Given the description of an element on the screen output the (x, y) to click on. 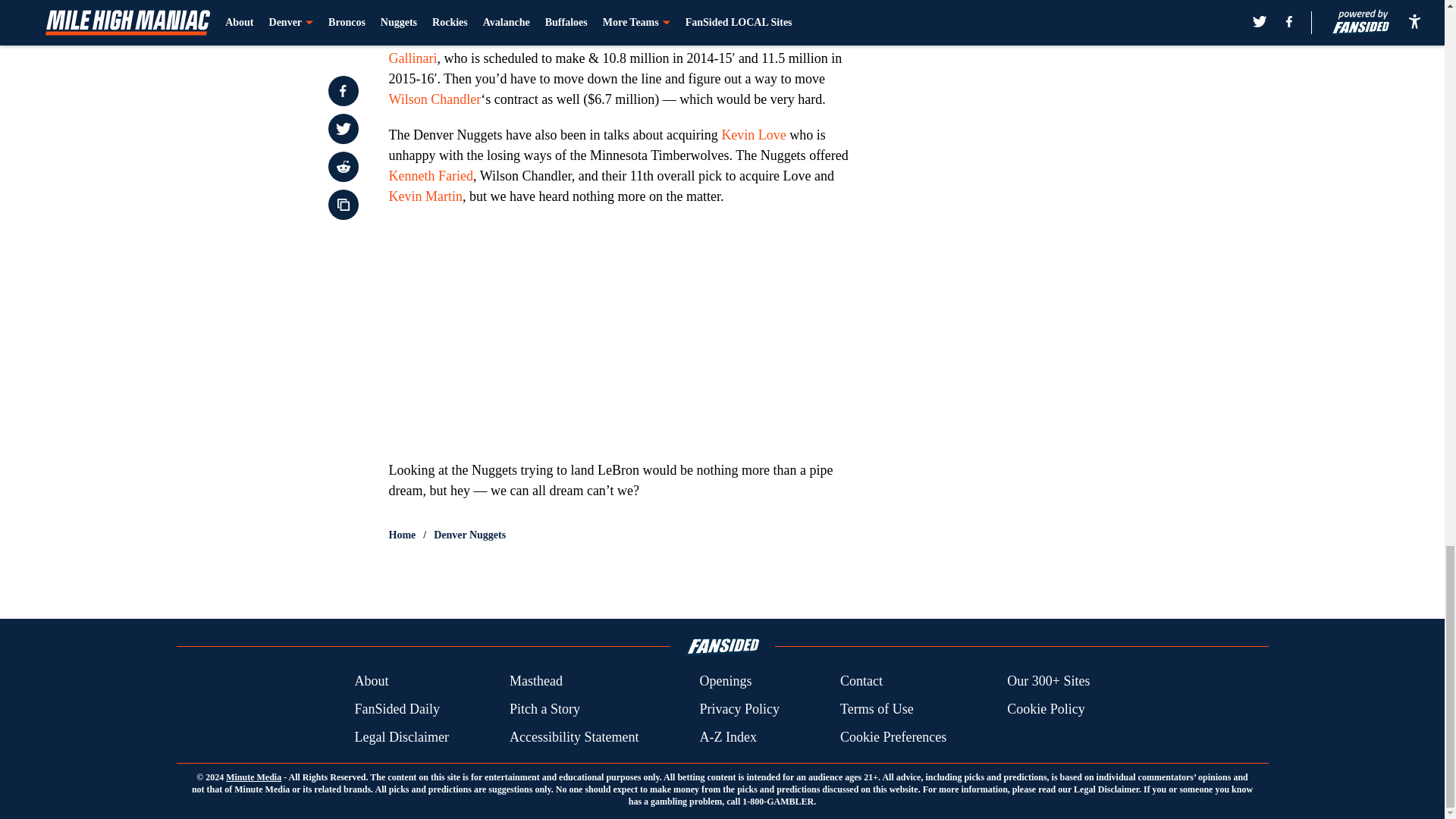
Kevin Love (753, 134)
Home (401, 534)
About (370, 680)
Kenneth Faried (429, 175)
Denver Nuggets (469, 534)
JaVale McGee (538, 17)
Masthead (535, 680)
Openings (724, 680)
Contact (861, 680)
Wilson Chandler (434, 99)
